Given the description of an element on the screen output the (x, y) to click on. 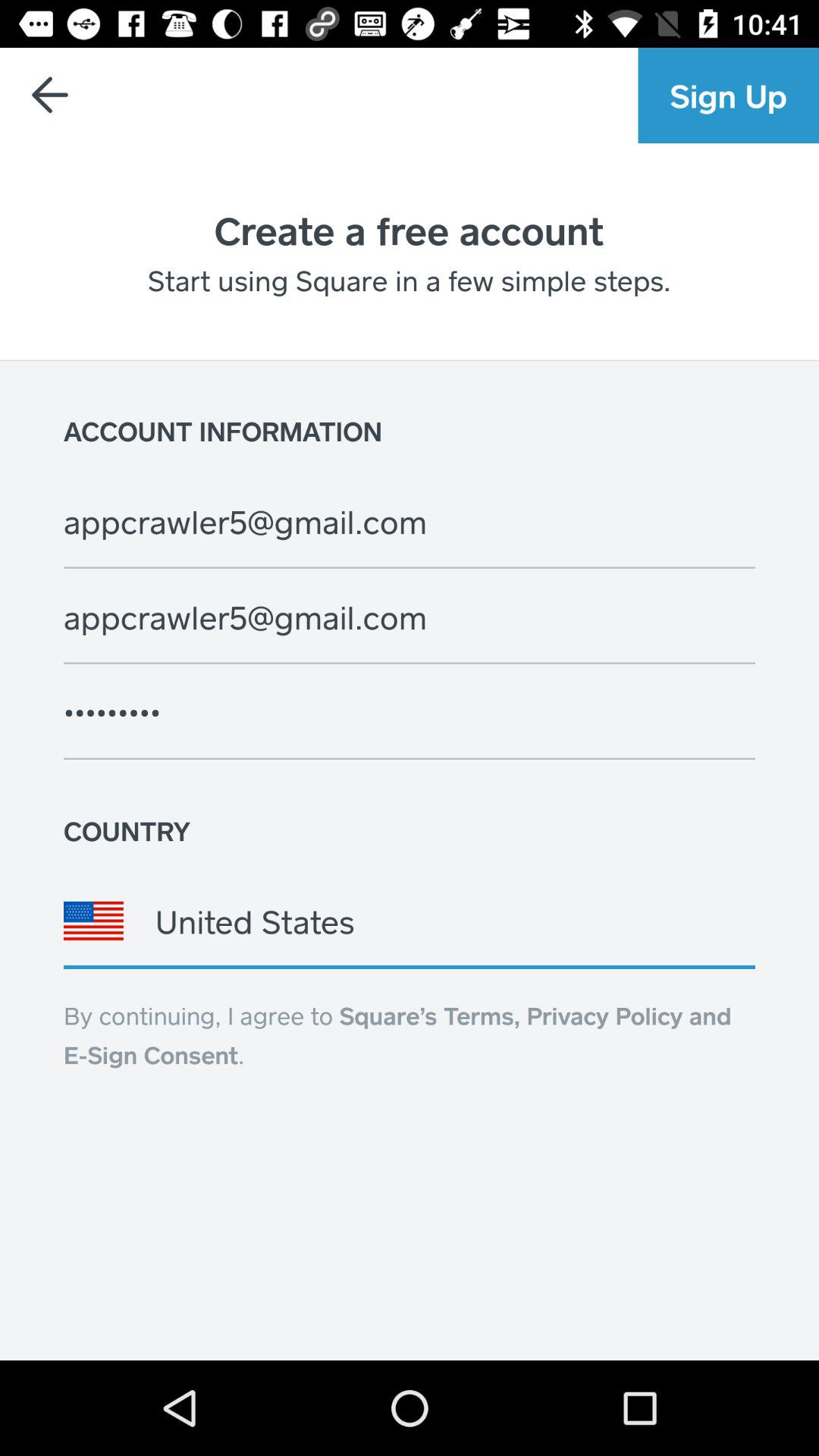
click the field above country (425, 712)
select the second mail address (409, 617)
click on blue color top right button (728, 95)
select the text below account information (409, 521)
click on the text below blue colored button (409, 229)
select the text in second line under account information (425, 617)
